Given the description of an element on the screen output the (x, y) to click on. 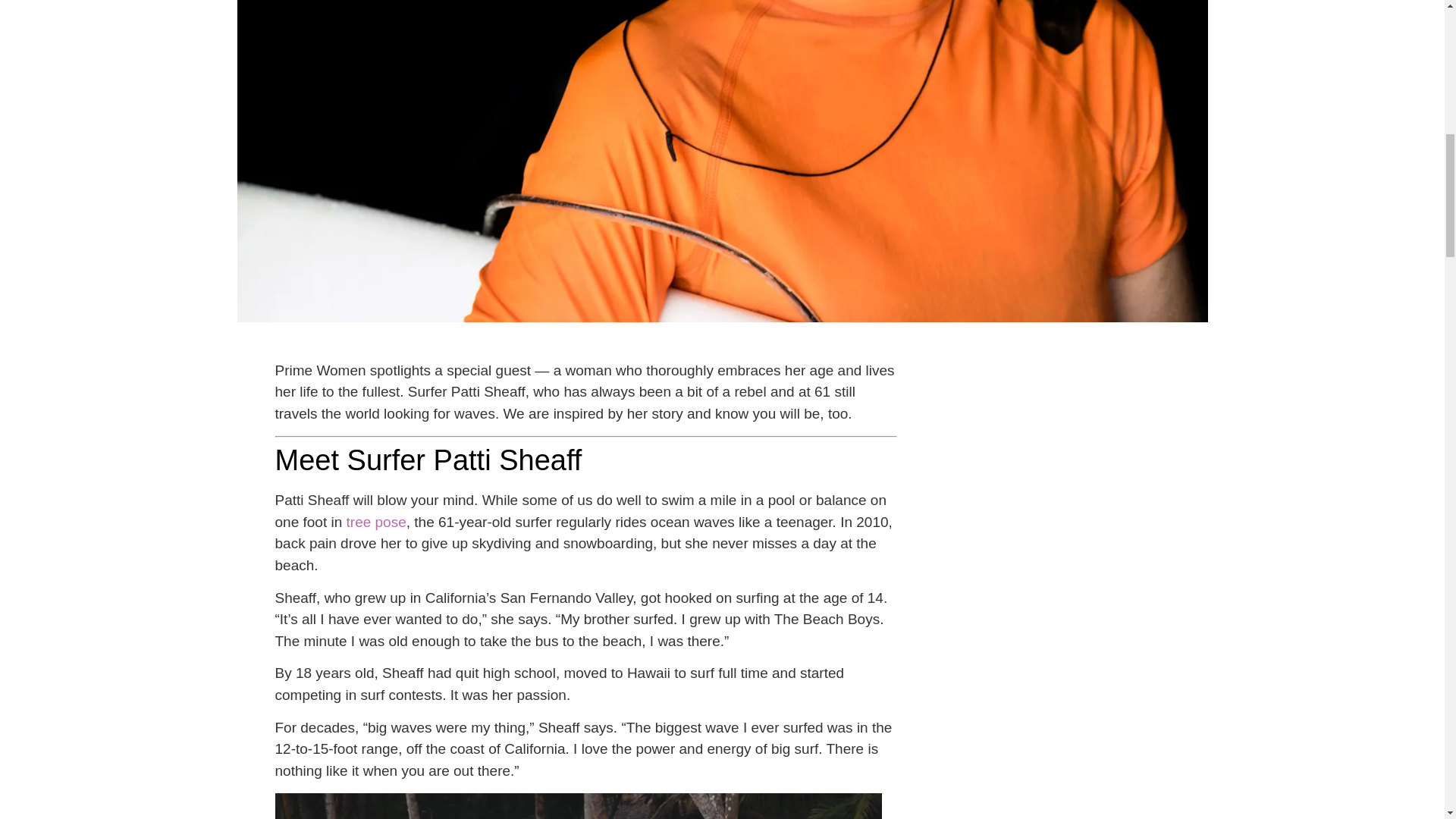
tree pose (376, 521)
